Given the description of an element on the screen output the (x, y) to click on. 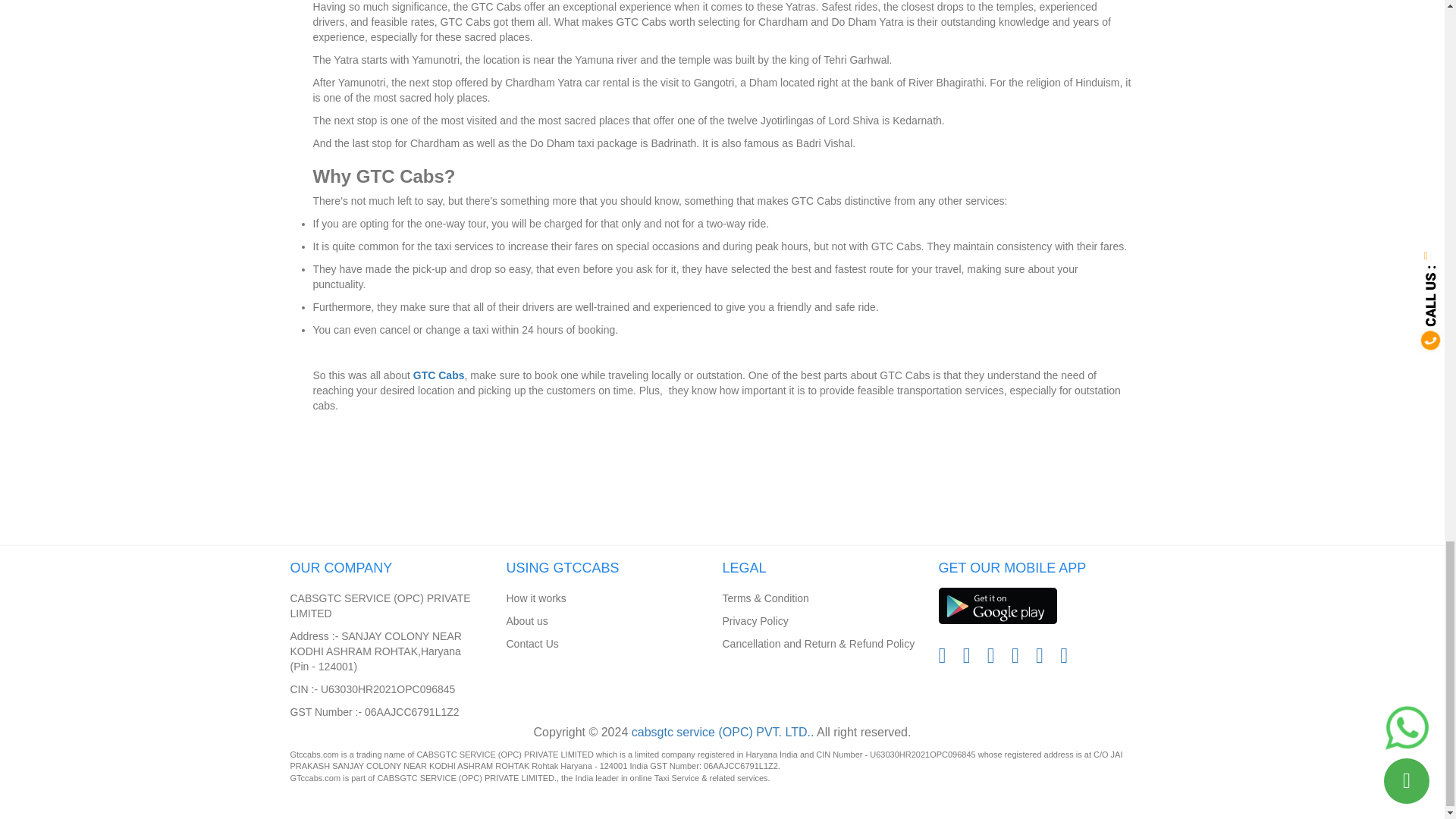
How it works (536, 598)
About us (527, 620)
Contact Us (532, 643)
Privacy Policy (754, 620)
GTC Cabs (438, 375)
